Given the description of an element on the screen output the (x, y) to click on. 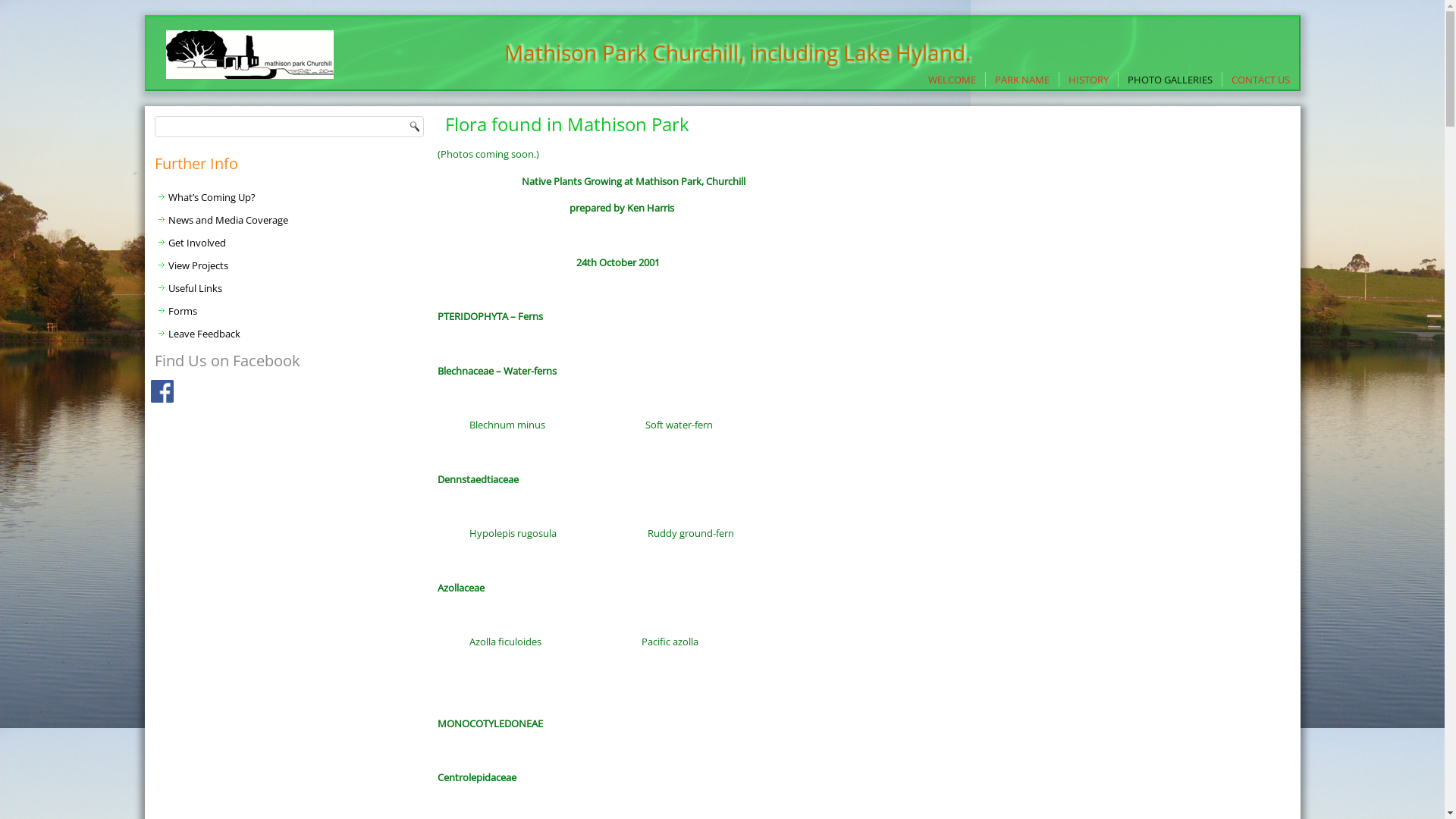
Mathison Park Churchill, including Lake Hyland. Element type: text (737, 51)
Useful Links Element type: text (289, 287)
HISTORY Element type: text (1087, 79)
News and Media Coverage Element type: text (289, 219)
Leave Feedback Element type: text (289, 333)
PARK NAME Element type: text (1021, 79)
WELCOME Element type: text (952, 79)
CONTACT US Element type: text (1260, 79)
Forms Element type: text (289, 310)
PHOTO GALLERIES Element type: text (1168, 79)
Get Involved Element type: text (289, 242)
View Projects Element type: text (289, 265)
